Given the description of an element on the screen output the (x, y) to click on. 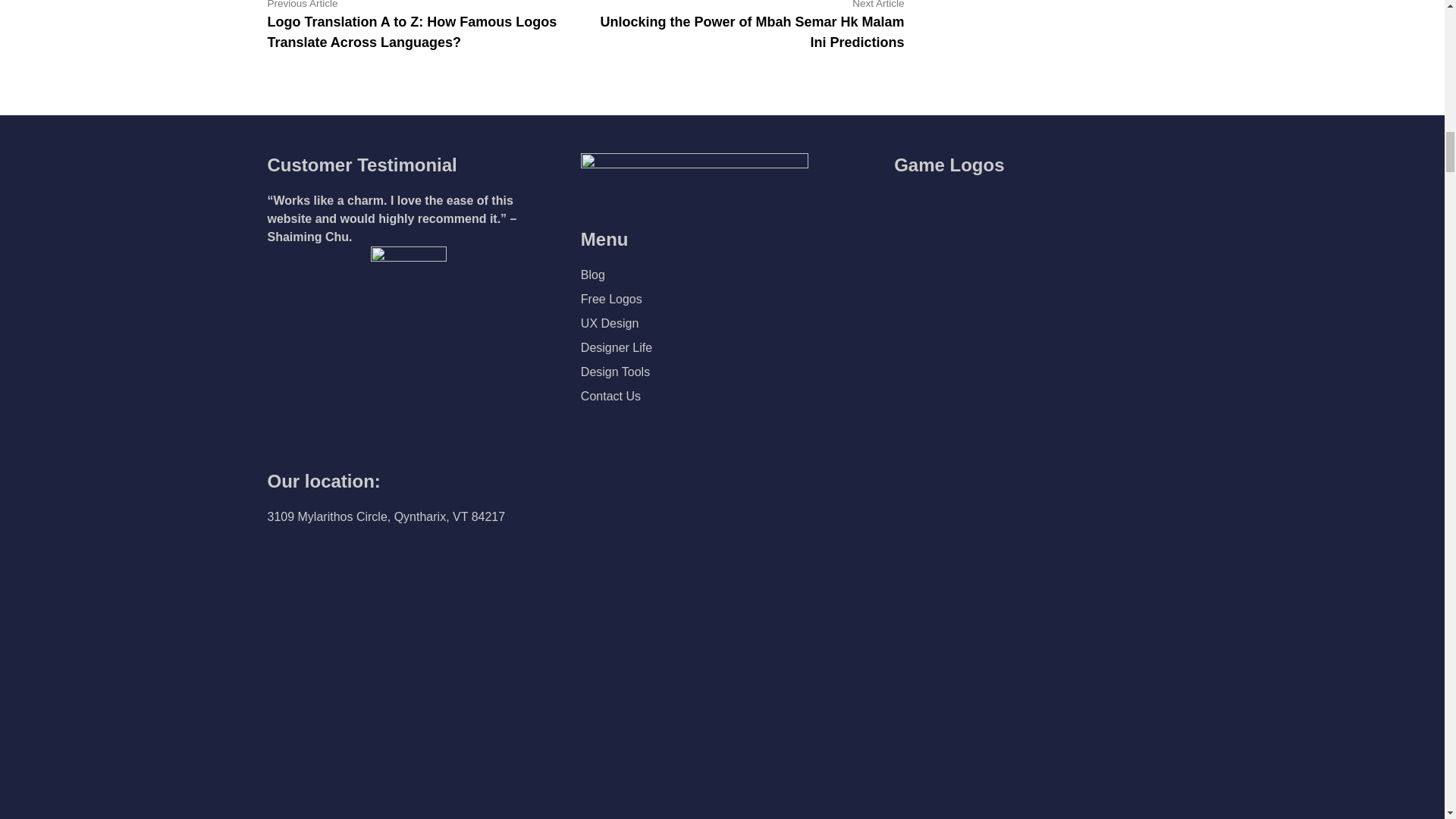
Blog (592, 274)
